Given the description of an element on the screen output the (x, y) to click on. 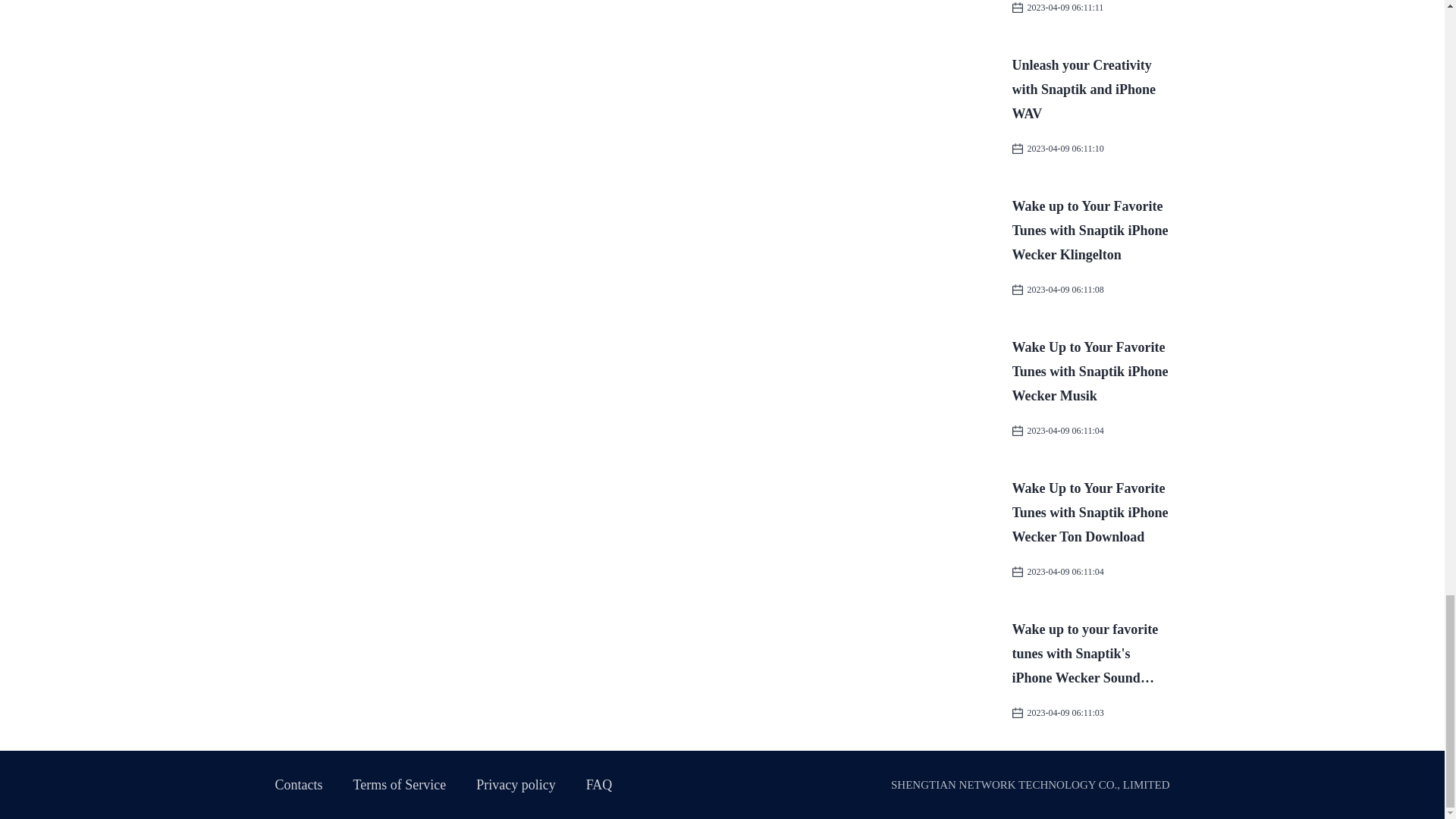
Contacts (298, 784)
Terms of Service (399, 784)
FAQ (599, 784)
Privacy policy (515, 784)
